Given the description of an element on the screen output the (x, y) to click on. 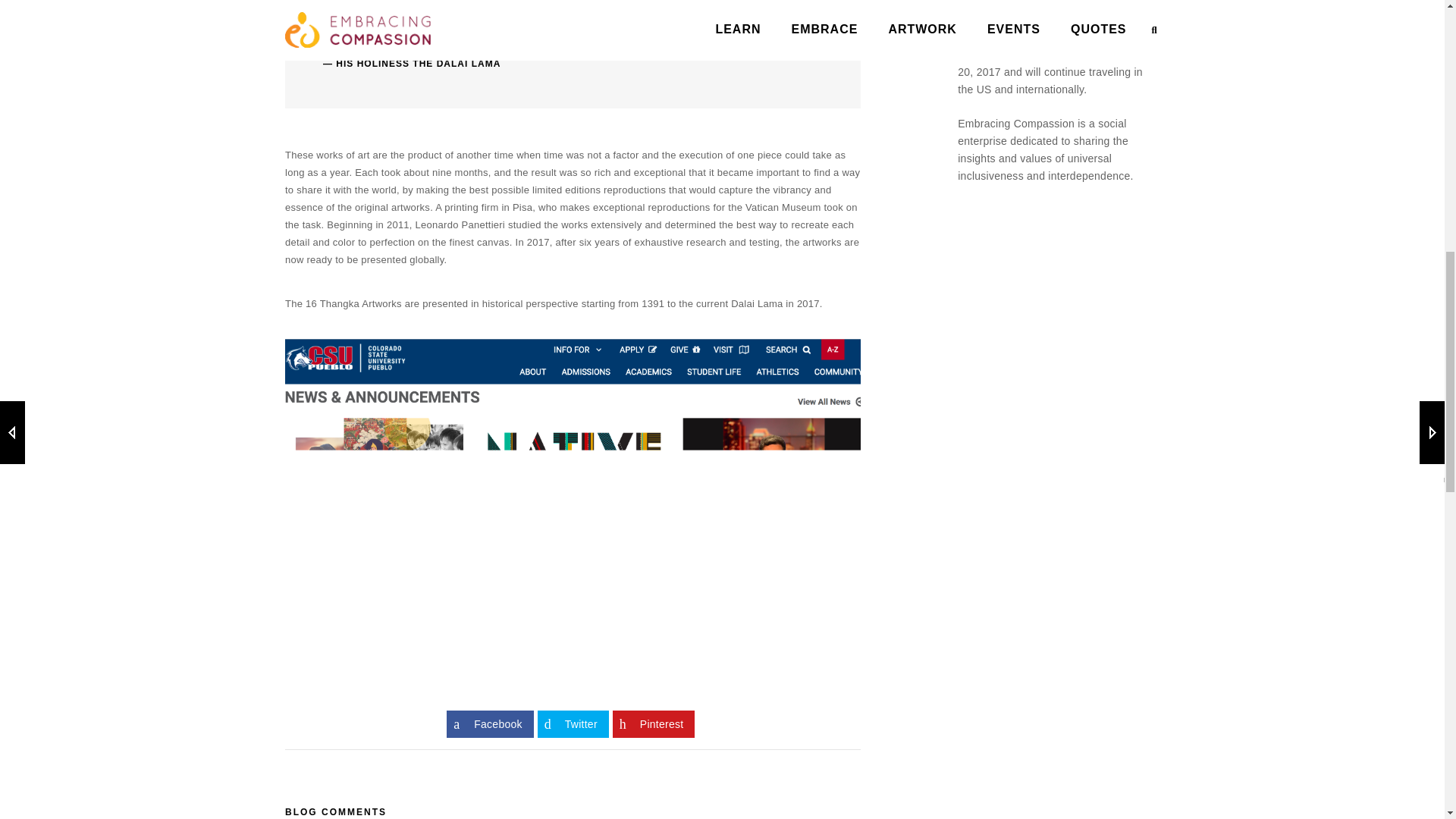
Share on Facebook (490, 723)
Pinterest (653, 723)
Share on Twitter (572, 723)
Share on Pinterest (653, 723)
Twitter (572, 723)
Facebook (490, 723)
